Given the description of an element on the screen output the (x, y) to click on. 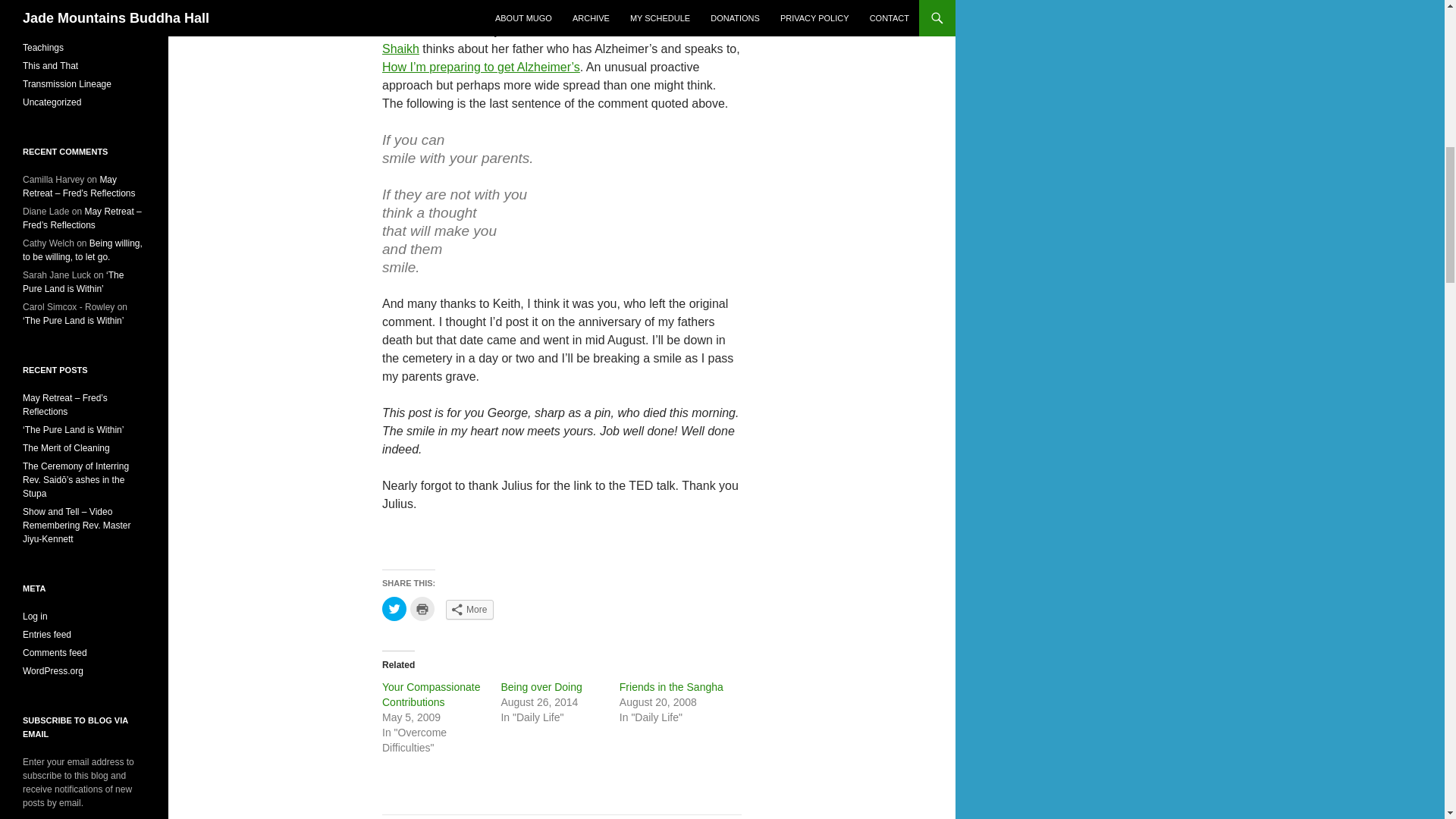
Your Compassionate Contributions (430, 694)
Friends in the Sangha (671, 686)
More (469, 609)
Your Compassionate Contributions (430, 694)
Alanna Shaikh (550, 39)
Being over Doing (540, 686)
Being over Doing (540, 686)
Friends in the Sangha (671, 686)
Click to print (421, 608)
Click to share on Twitter (393, 608)
Photographs taken by Rev. Mugo. (561, 816)
